Given the description of an element on the screen output the (x, y) to click on. 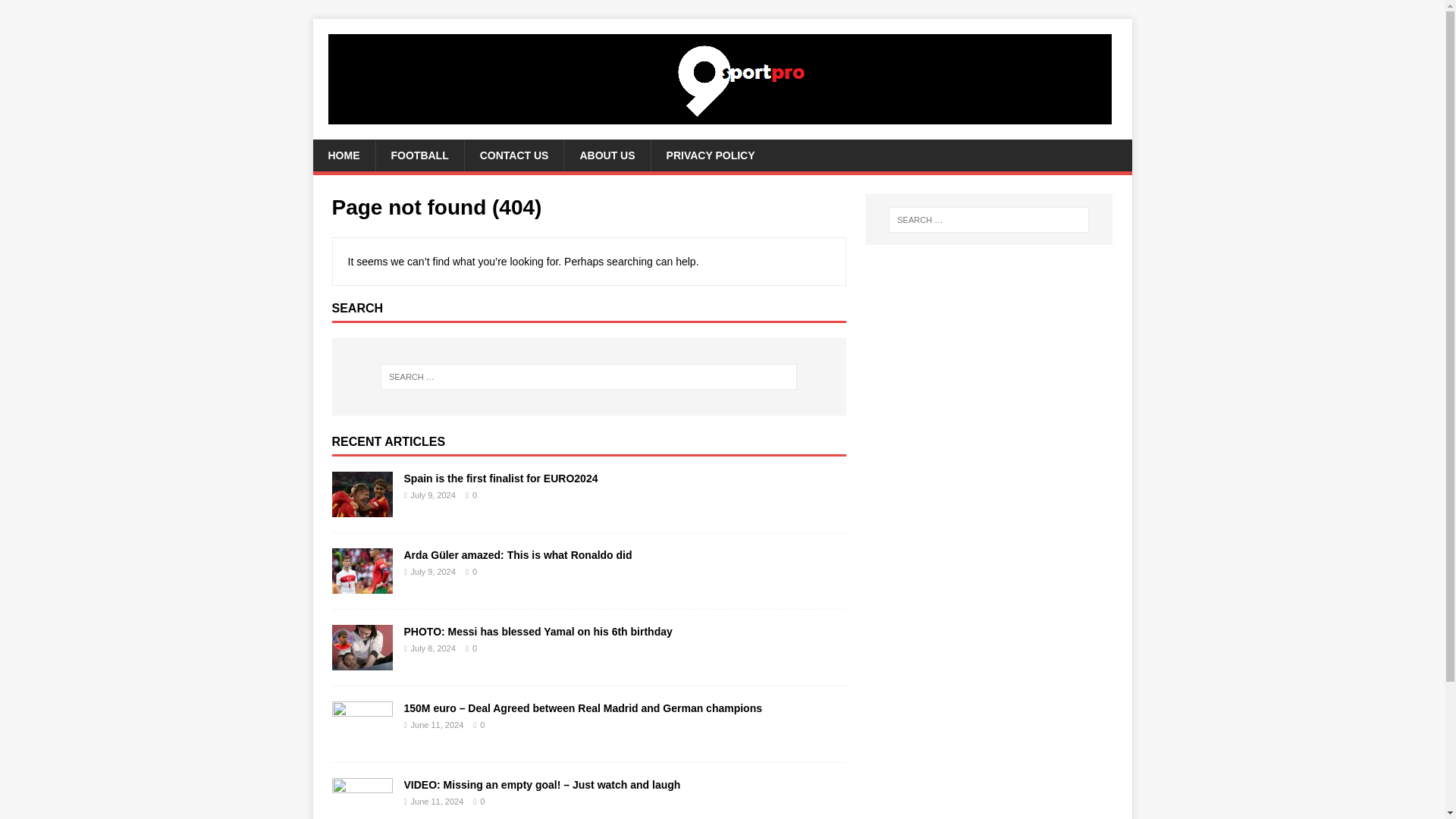
PRIVACY POLICY (710, 155)
Spain is the first finalist for EURO2024 (362, 508)
FOOTBALL (418, 155)
Spain is the first finalist for EURO2024 (499, 478)
PHOTO: Messi has blessed Yamal on his 6th birthday (537, 631)
Search (56, 11)
PHOTO: Messi has blessed Yamal on his 6th birthday (537, 631)
PHOTO: Messi has blessed Yamal on his 6th birthday (362, 661)
Spain is the first finalist for EURO2024 (499, 478)
ABOUT US (606, 155)
